Given the description of an element on the screen output the (x, y) to click on. 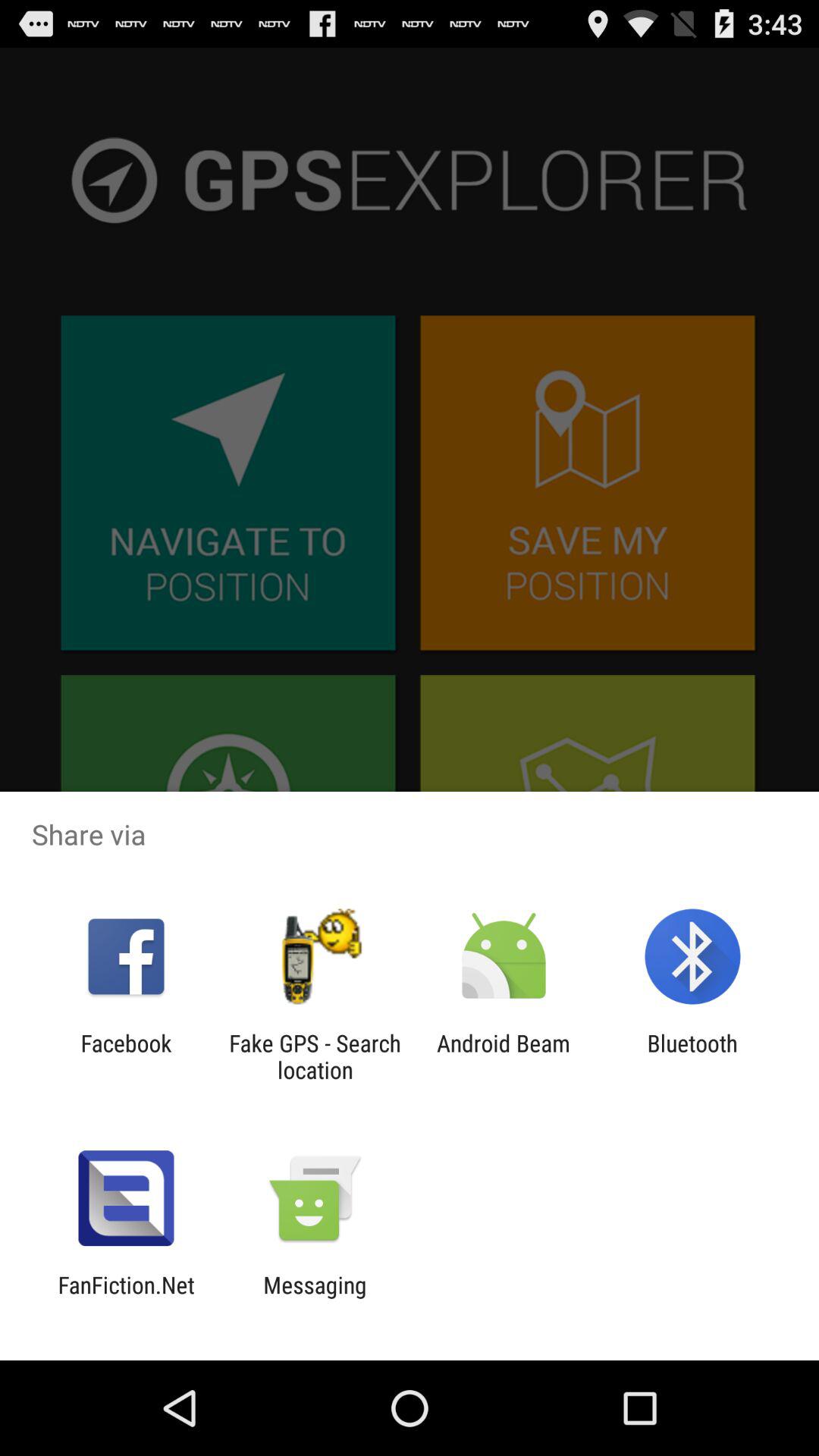
select the app to the left of android beam item (314, 1056)
